Given the description of an element on the screen output the (x, y) to click on. 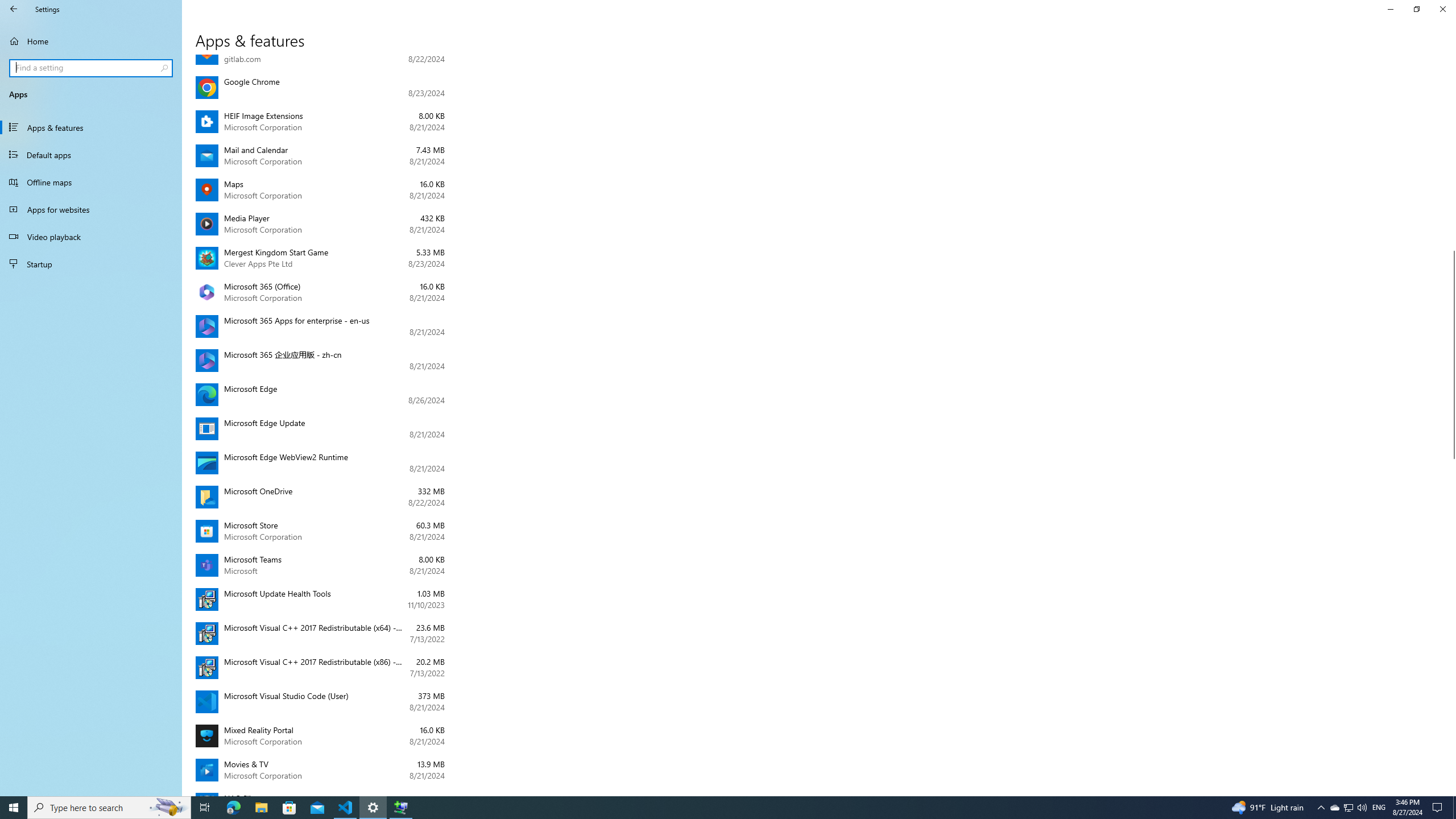
Search box, Find a setting (91, 67)
Startup (91, 263)
Vertical Small Increase (1451, 791)
Offline maps (91, 181)
Vertical (1451, 425)
